Given the description of an element on the screen output the (x, y) to click on. 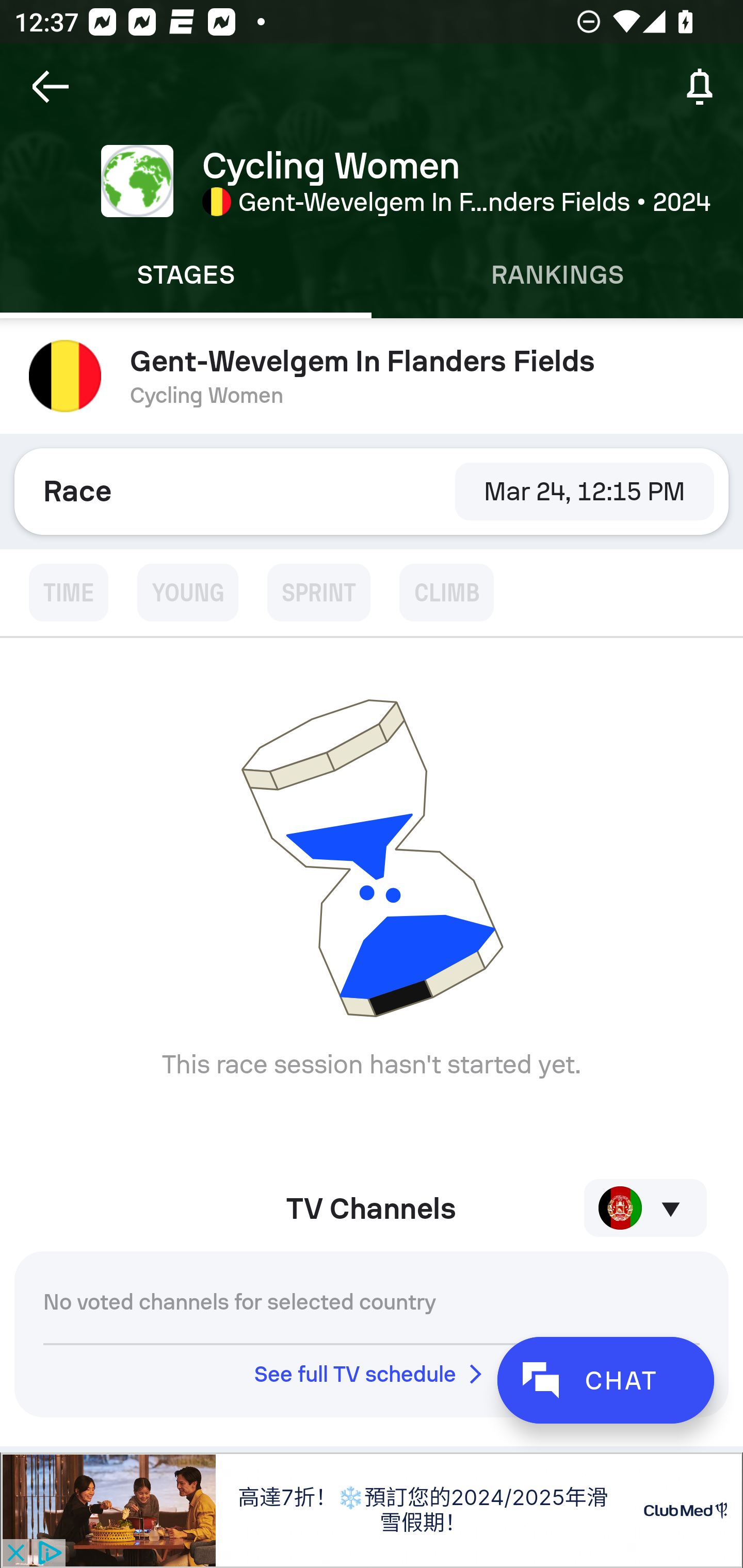
Navigate up (50, 86)
Rankings RANKINGS (557, 275)
Race Mar 24, 12:15 PM (371, 491)
Mar 24, 12:15 PM (584, 491)
CHAT (605, 1380)
See full TV schedule (371, 1374)
close_button (14, 1553)
privacy_small (47, 1553)
